Given the description of an element on the screen output the (x, y) to click on. 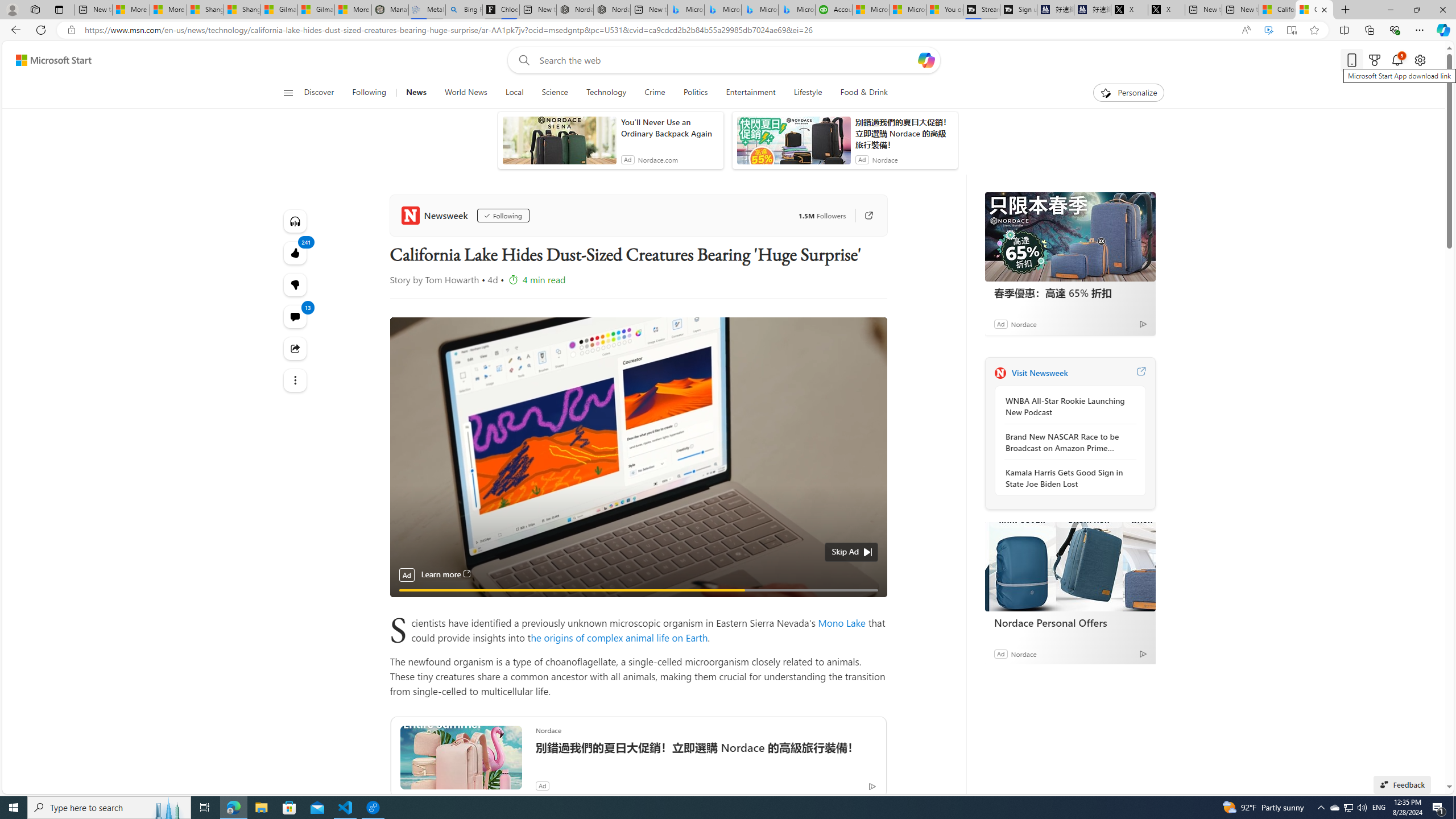
World News (465, 92)
Microsoft Bing Travel - Stays in Bangkok, Bangkok, Thailand (721, 9)
Food & Drink (864, 92)
Newsweek (1000, 372)
Local (514, 92)
